Given the description of an element on the screen output the (x, y) to click on. 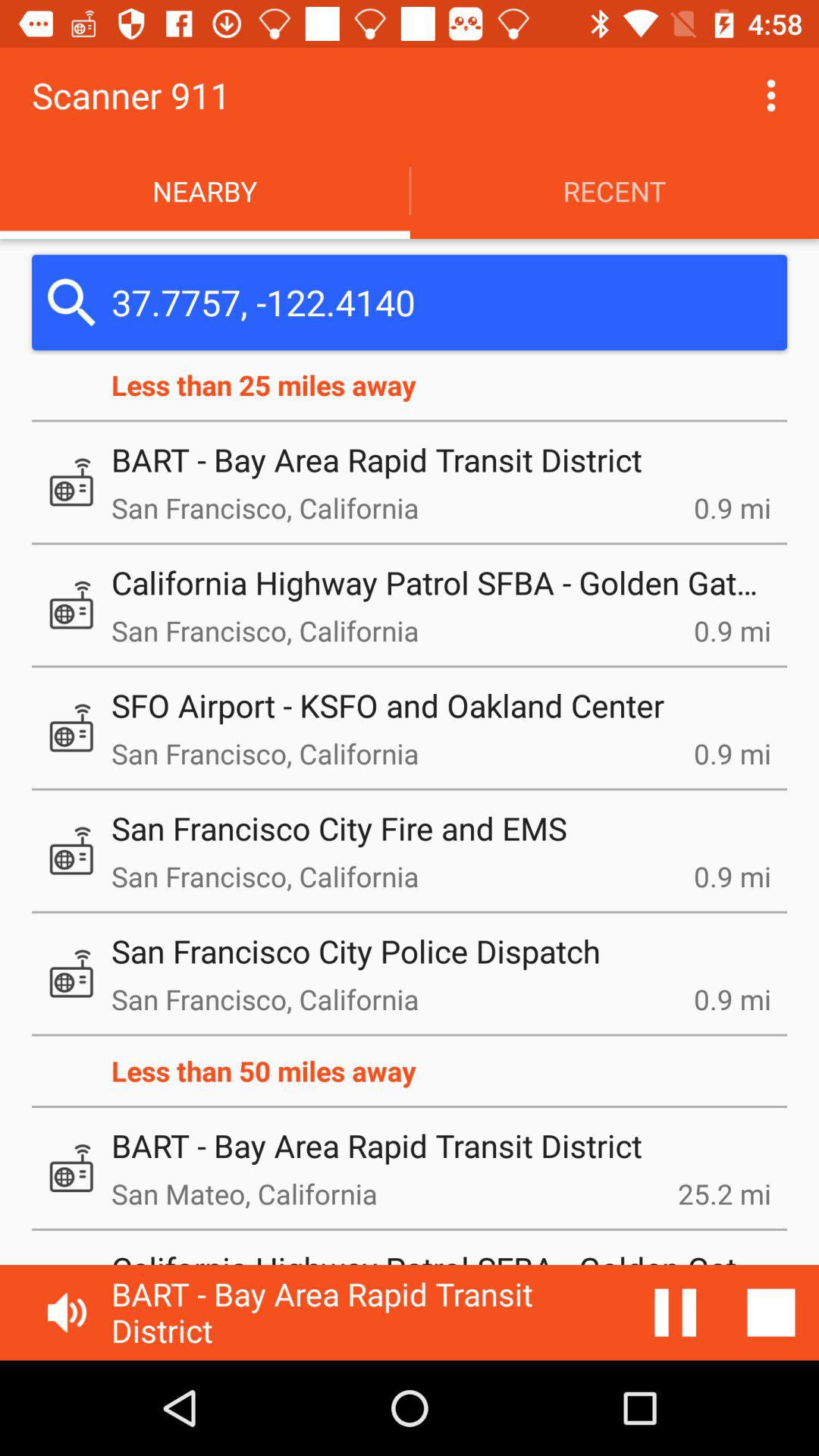
pause (675, 1312)
